Given the description of an element on the screen output the (x, y) to click on. 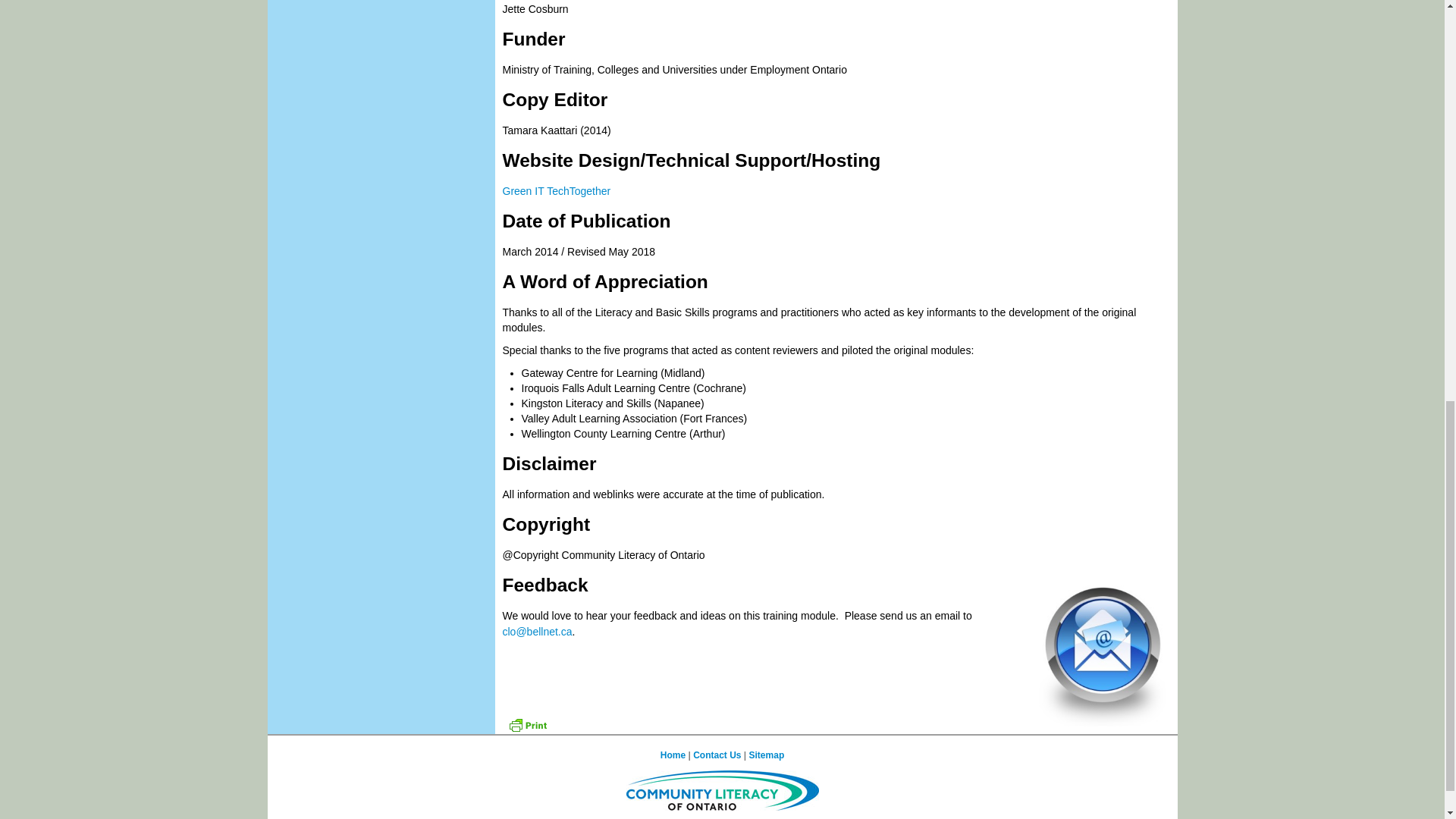
Email Community Literacy of Ontario (537, 631)
Sitemap (766, 755)
